Given the description of an element on the screen output the (x, y) to click on. 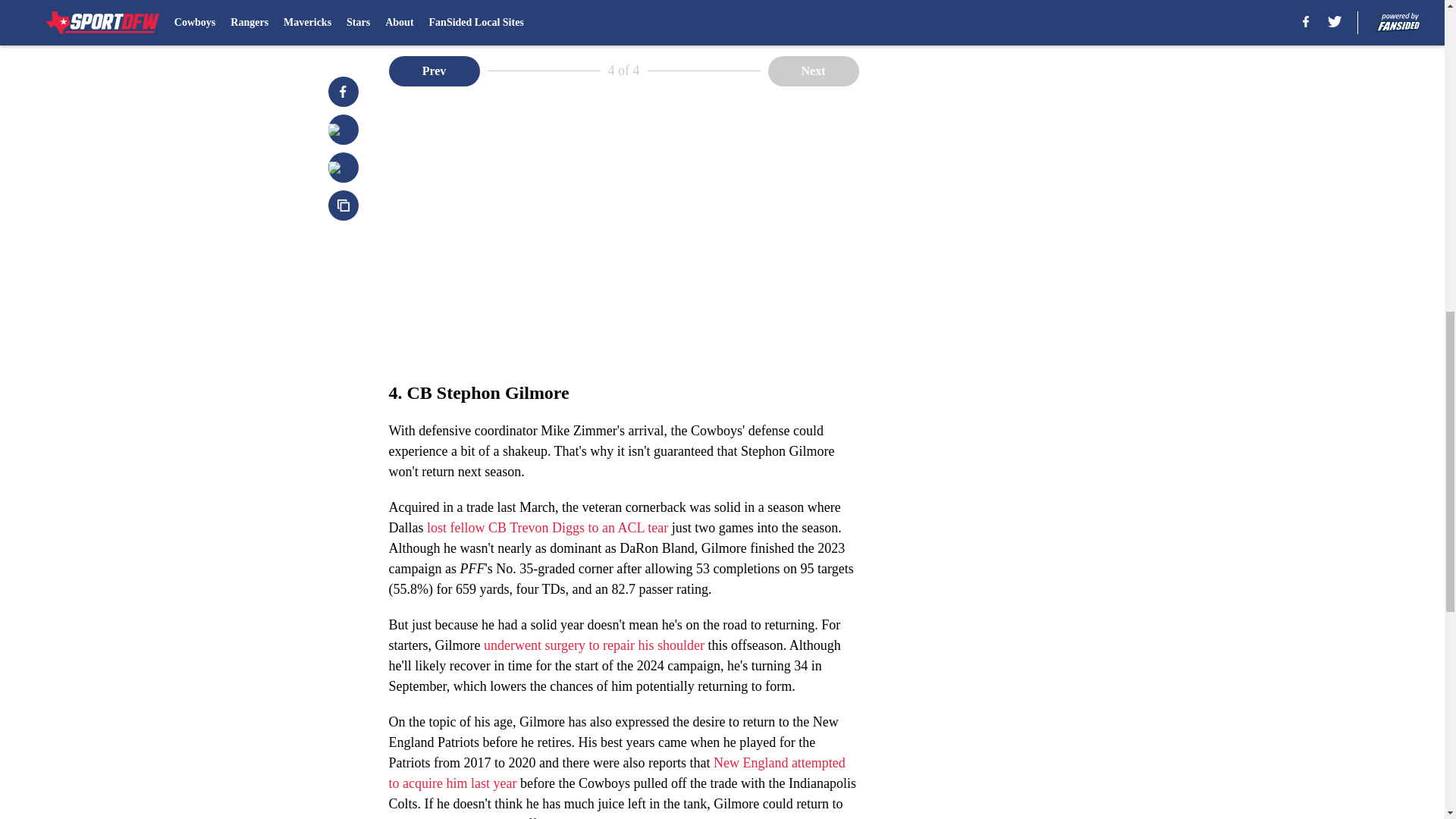
lost fellow CB Trevon Diggs to an ACL tear (547, 527)
New England attempted to acquire him last year (616, 773)
underwent surgery to repair his shoulder (593, 645)
Prev (433, 71)
Next (813, 71)
